Given the description of an element on the screen output the (x, y) to click on. 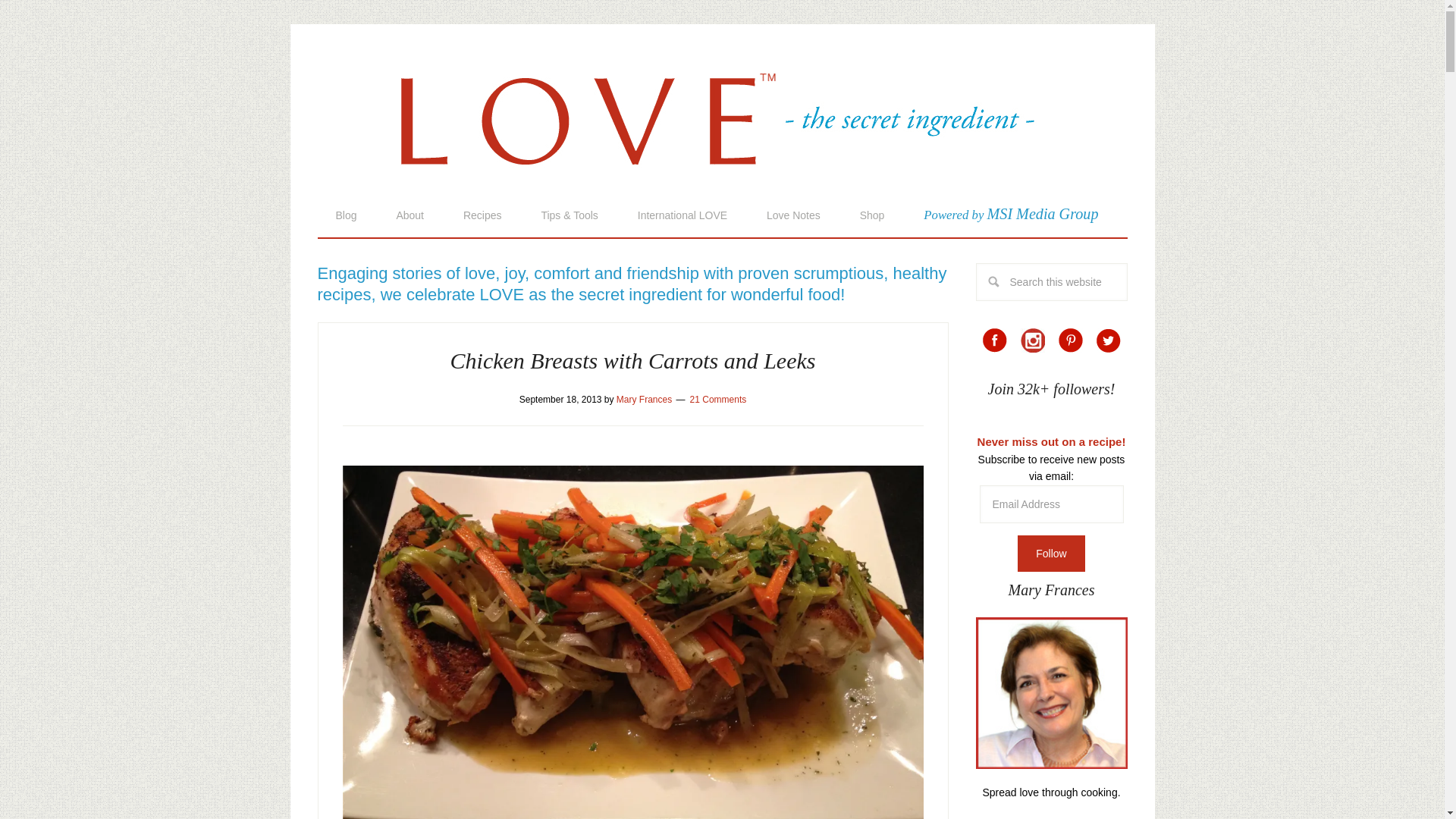
Shop (871, 214)
Chicken Breasts with Carrots and Leeks (632, 360)
Instagram (1032, 340)
Pinterest (1070, 340)
Facebook (994, 340)
Powered by MSI Media Group (1010, 213)
Blog (345, 214)
Love Notes (793, 214)
International LOVE (682, 214)
